Given the description of an element on the screen output the (x, y) to click on. 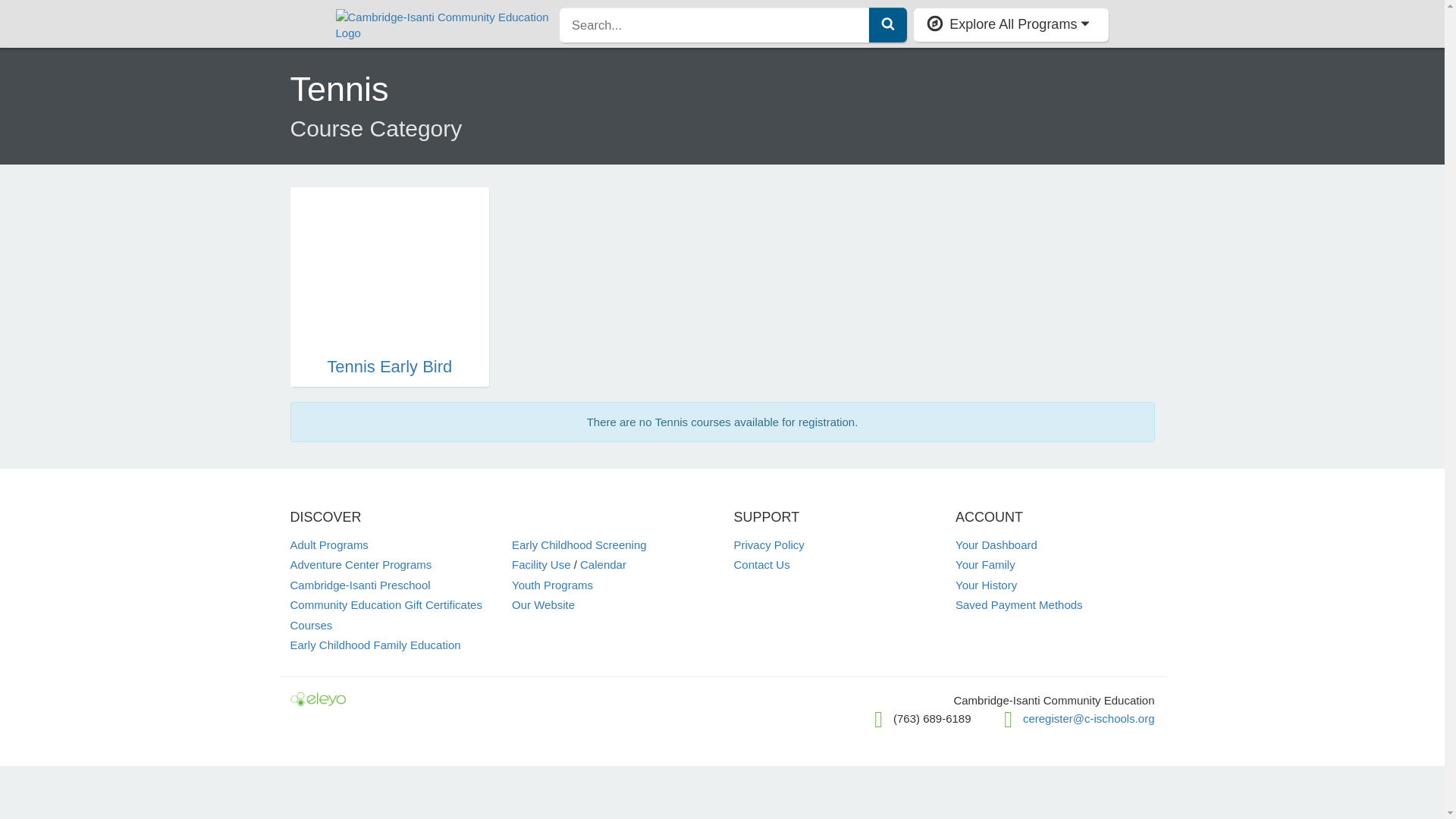
Explore All Programs (1011, 24)
 Search Icon (887, 23)
 Compass Icon (934, 23)
 Caret Down Icon (1085, 23)
